Given the description of an element on the screen output the (x, y) to click on. 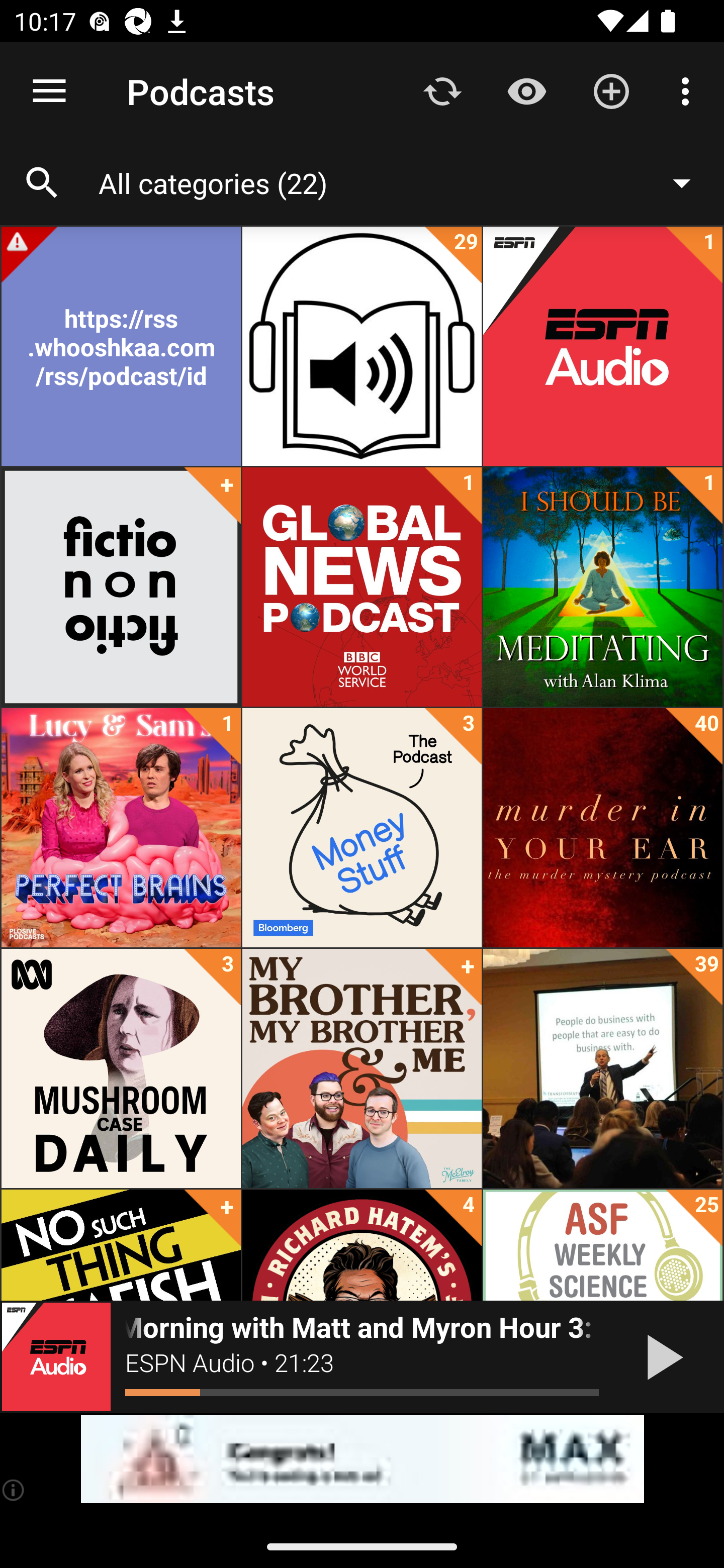
Open navigation sidebar (49, 91)
Update (442, 90)
Show / Hide played content (526, 90)
Add new Podcast (611, 90)
More options (688, 90)
Search (42, 183)
All categories (22) (404, 182)
https://rss.whooshkaa.com/rss/podcast/id/5884 (121, 346)
Audiobooks 29 (361, 346)
ESPN Audio 1 (602, 346)
fiction/non/fiction + (121, 587)
Global News Podcast 1 (361, 587)
Lucy & Sam's Perfect Brains 1 (121, 827)
Money Stuff: The Podcast 3 (361, 827)
Murder In Your Ear-The Murder Mystery Podcast 40 (602, 827)
Mushroom Case Daily 3 (121, 1068)
My Brother, My Brother And Me + (361, 1068)
Play / Pause (660, 1356)
app-monetization (362, 1459)
(i) (14, 1489)
